Given the description of an element on the screen output the (x, y) to click on. 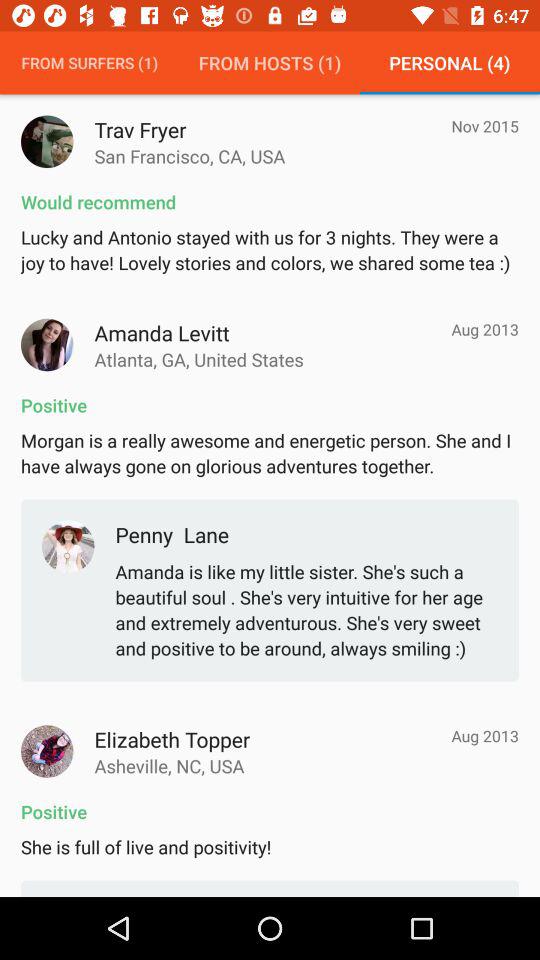
open to view profile (47, 751)
